Given the description of an element on the screen output the (x, y) to click on. 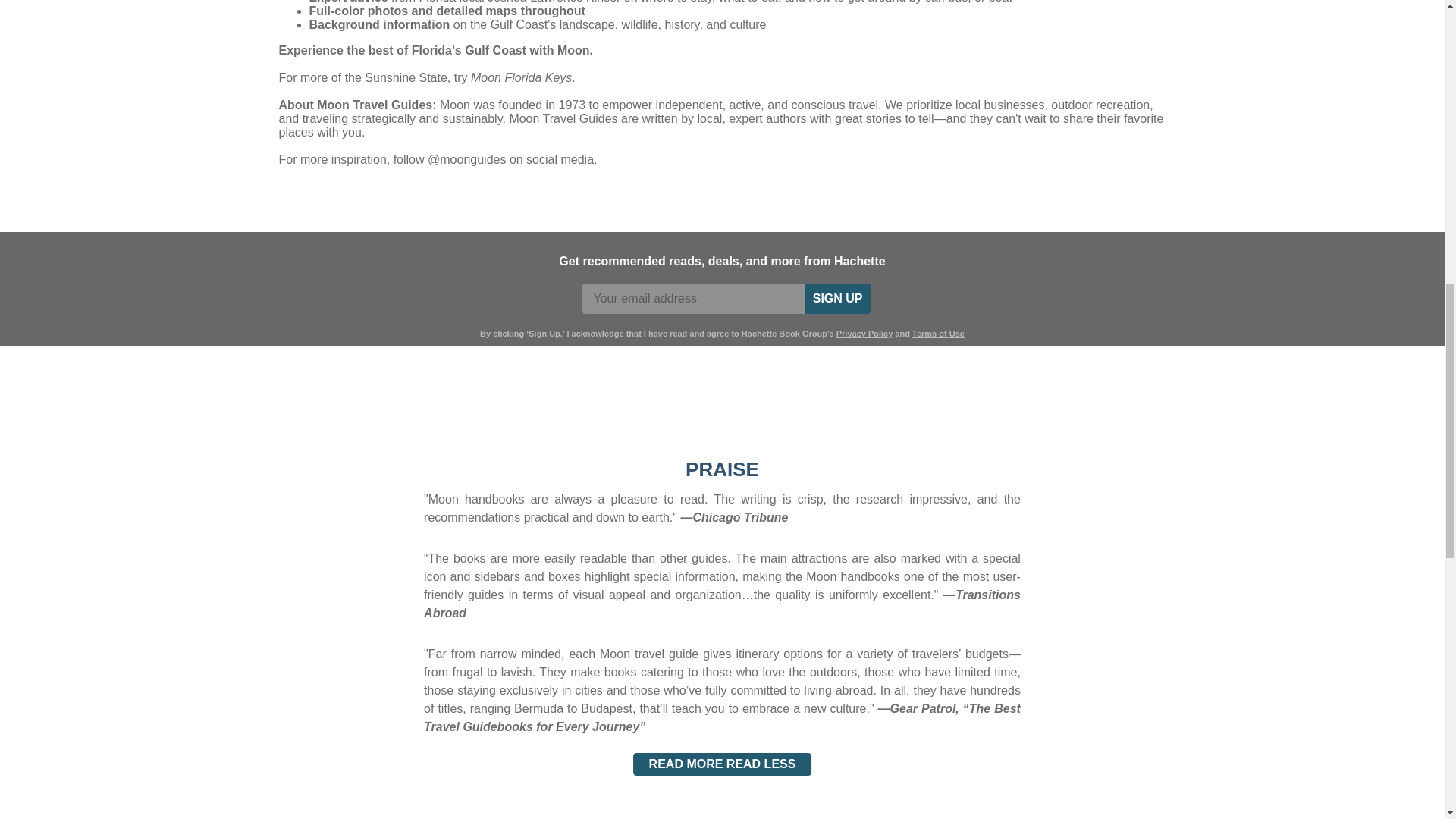
Terms of Use (937, 333)
SIGN UP (837, 298)
READ MORE READ LESS (722, 763)
Privacy Policy (864, 333)
